Given the description of an element on the screen output the (x, y) to click on. 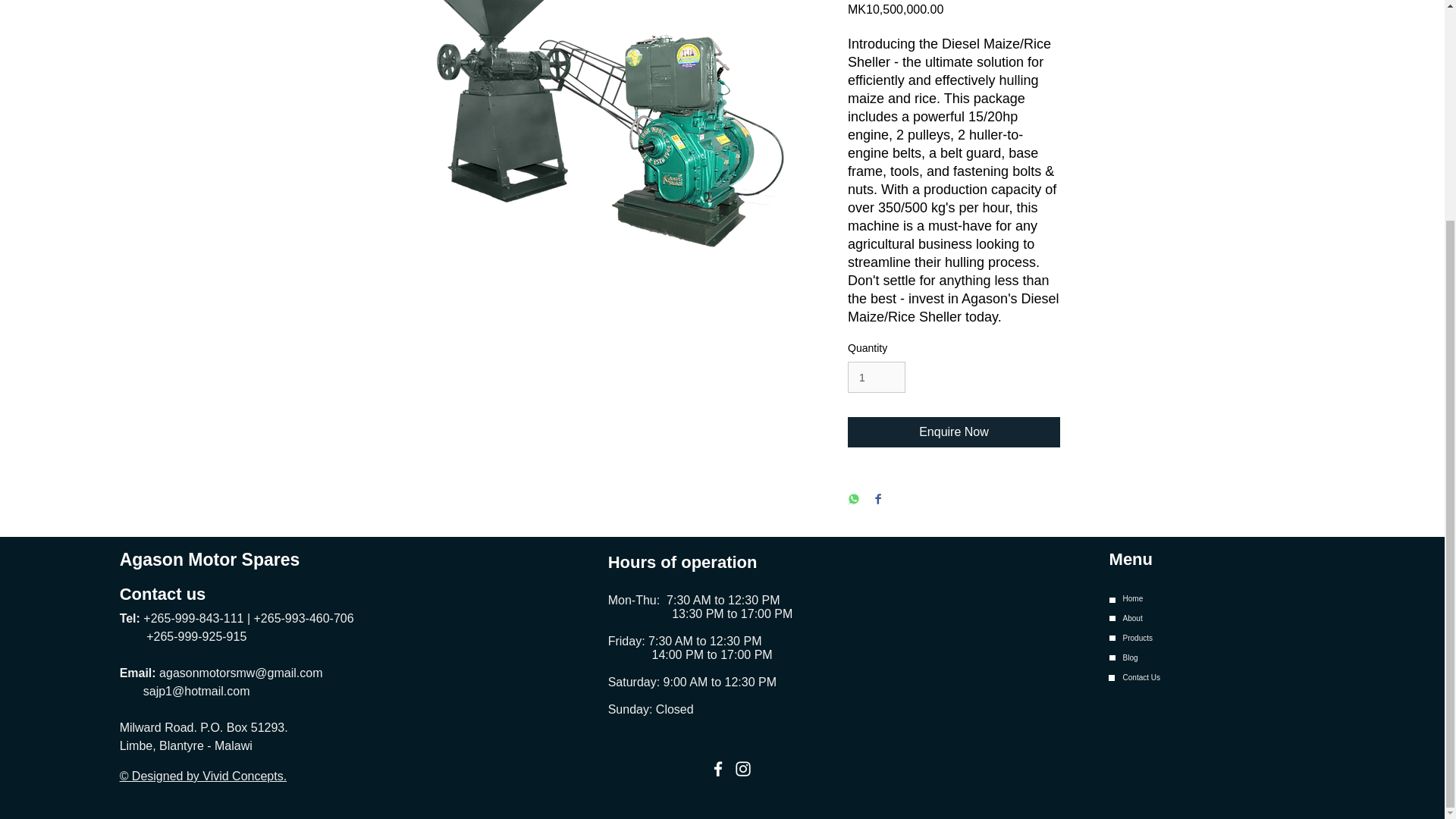
Blog (1181, 658)
About (1181, 618)
Home (1181, 598)
Enquire Now (953, 431)
Agason M (161, 559)
Products (1181, 638)
1 (876, 377)
Contact Us (1181, 677)
